Given the description of an element on the screen output the (x, y) to click on. 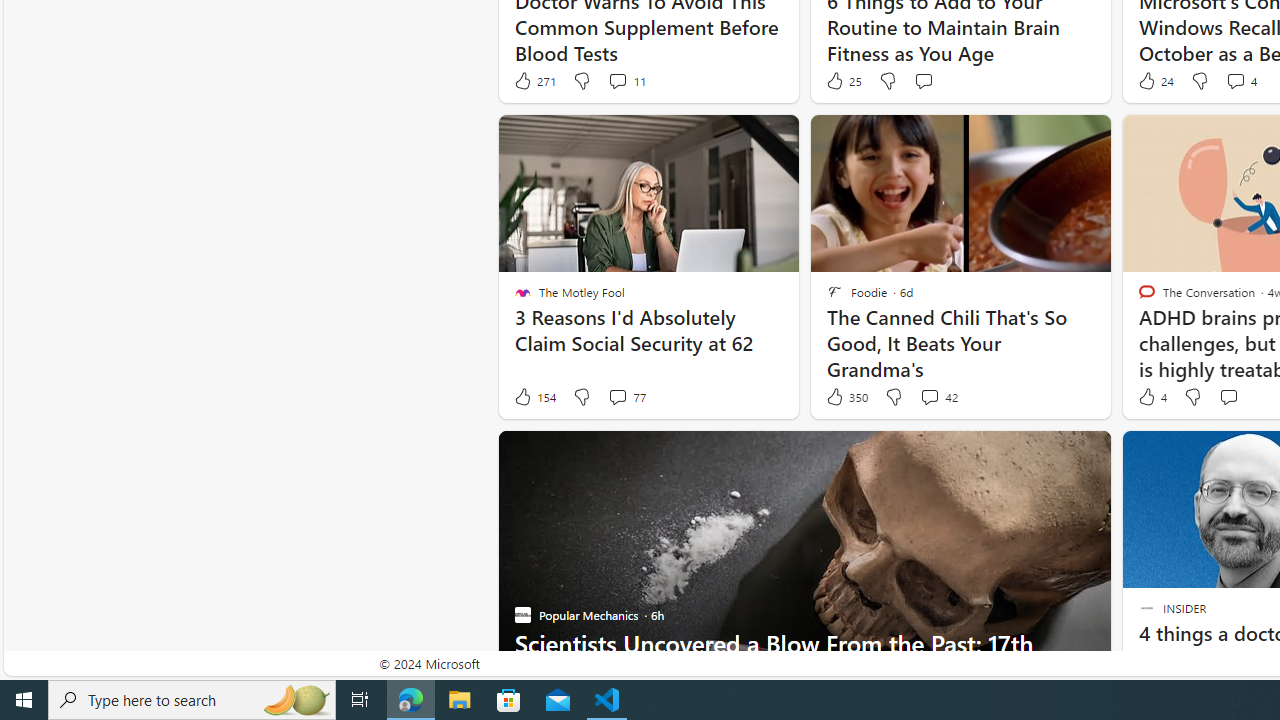
25 Like (843, 80)
View comments 4 Comment (1234, 80)
View comments 42 Comment (929, 396)
